Given the description of an element on the screen output the (x, y) to click on. 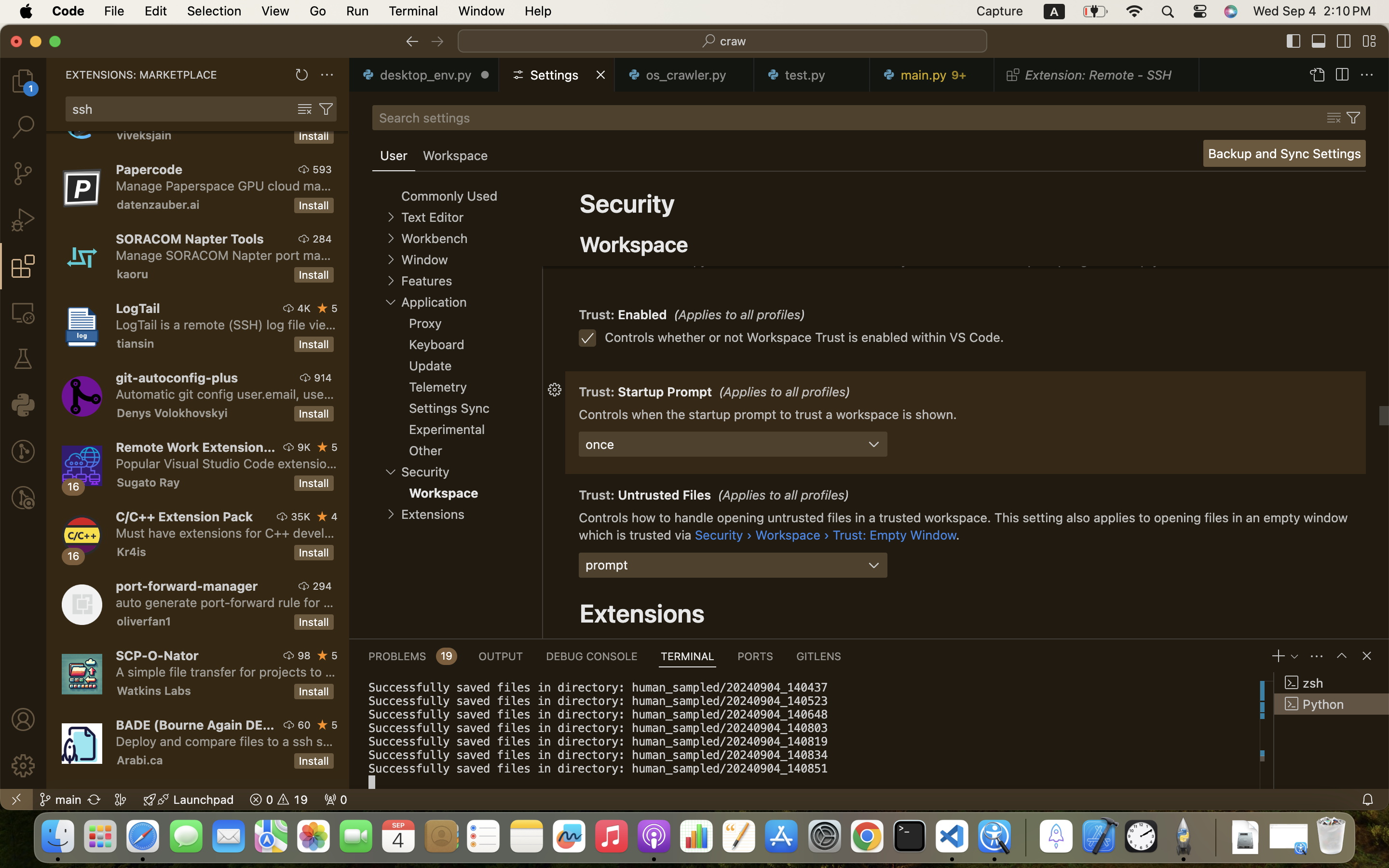
Must have extensions for C++ development in Visual Studio Code. Element type: AXStaticText (224, 532)
 Element type: AXStaticText (325, 108)
LogTail is a remote (SSH) log file viewer and monitoring extension. Element type: AXStaticText (225, 324)
Sugato Ray Element type: AXStaticText (148, 481)
 Element type: AXButton (1369, 41)
